Given the description of an element on the screen output the (x, y) to click on. 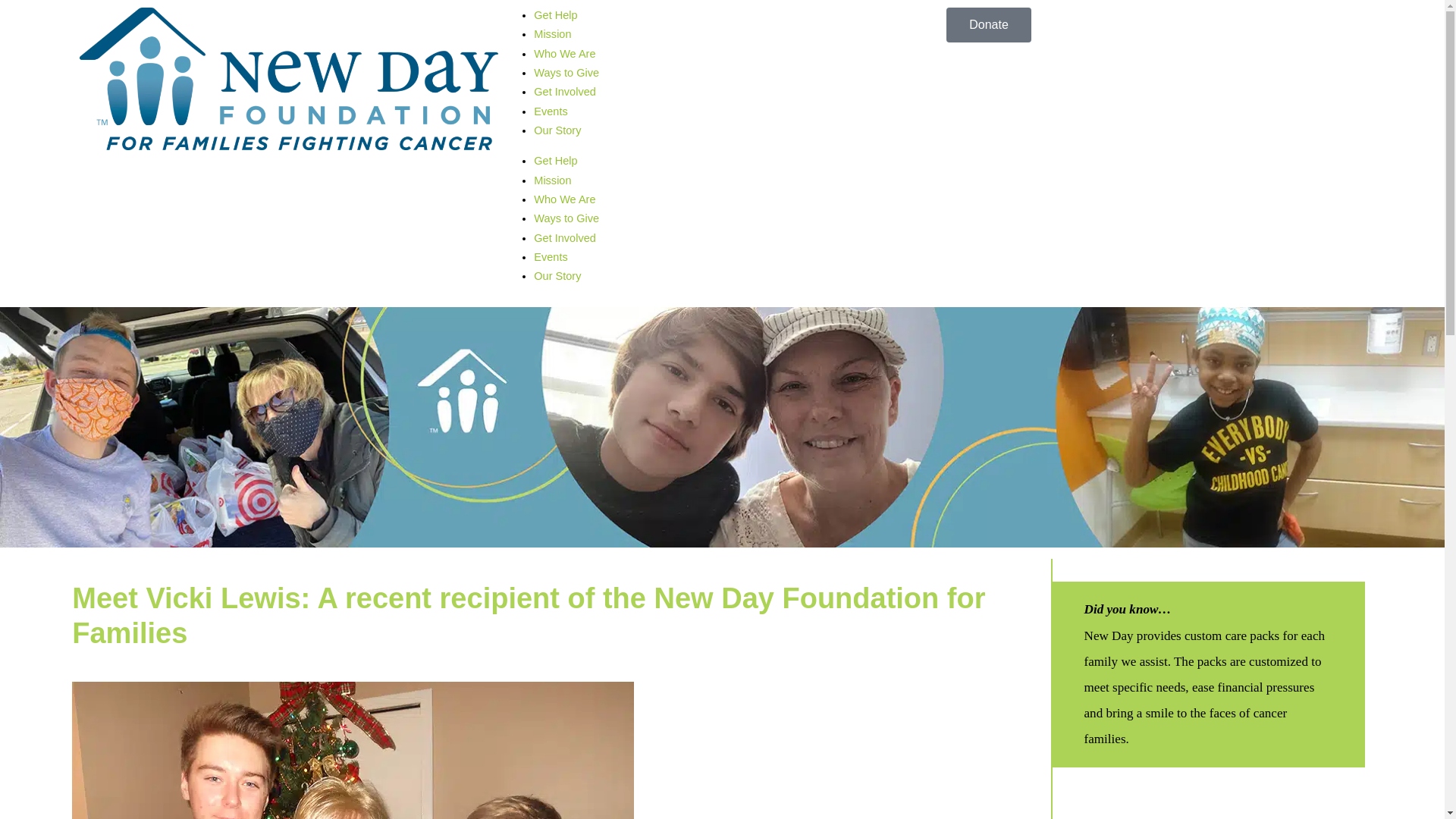
Get Involved (564, 237)
Ways to Give (566, 218)
Events (550, 111)
Mission (552, 33)
Who We Are (564, 53)
Ways to Give (566, 72)
Our Story (557, 130)
Donate (988, 24)
Get Involved (564, 91)
Get Help (555, 160)
